Given the description of an element on the screen output the (x, y) to click on. 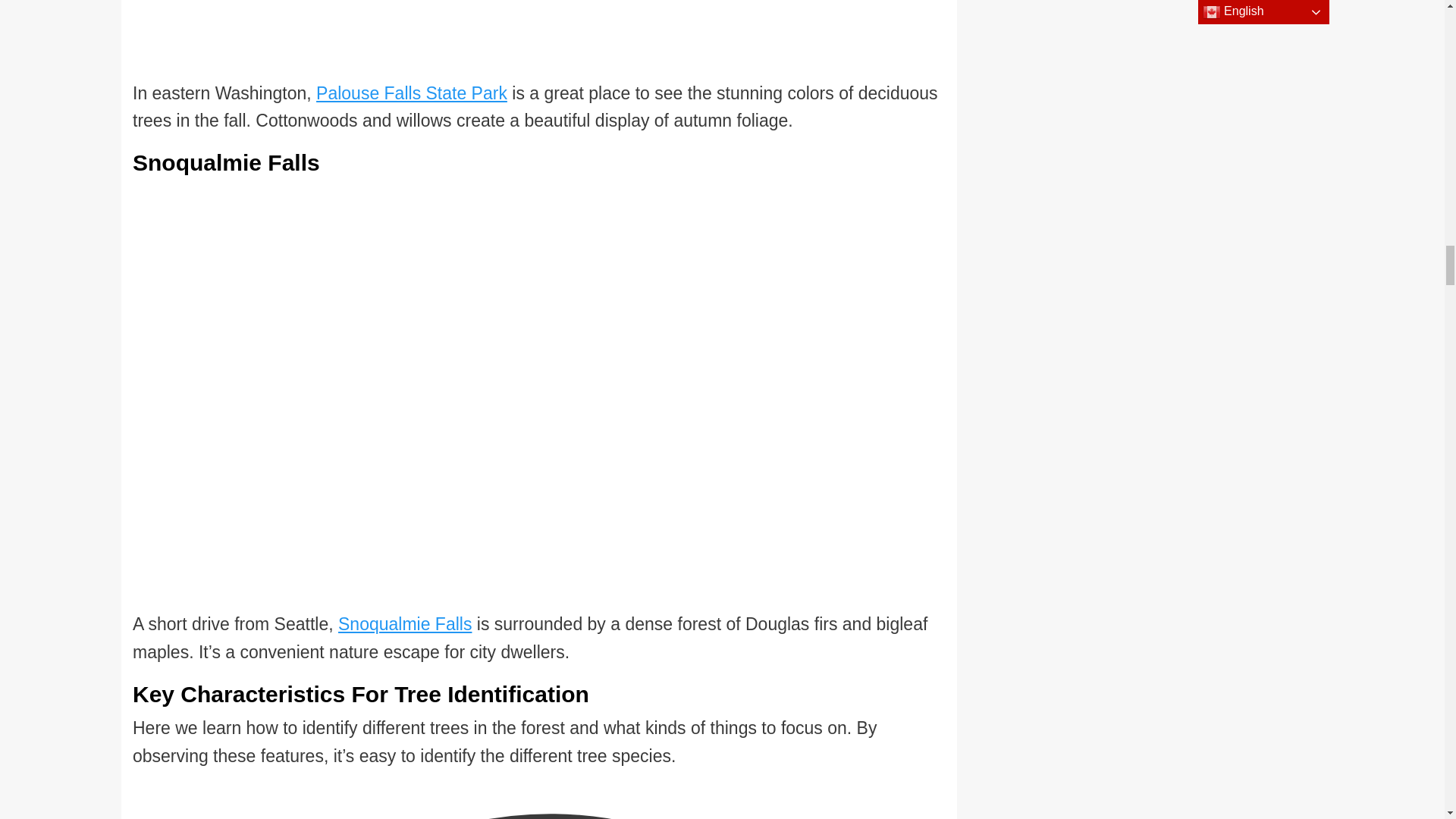
Snoqualmie Falls (404, 623)
Palouse Falls State Park (410, 93)
Trees in Washington State: Learn How To Identify 7 (520, 39)
